Given the description of an element on the screen output the (x, y) to click on. 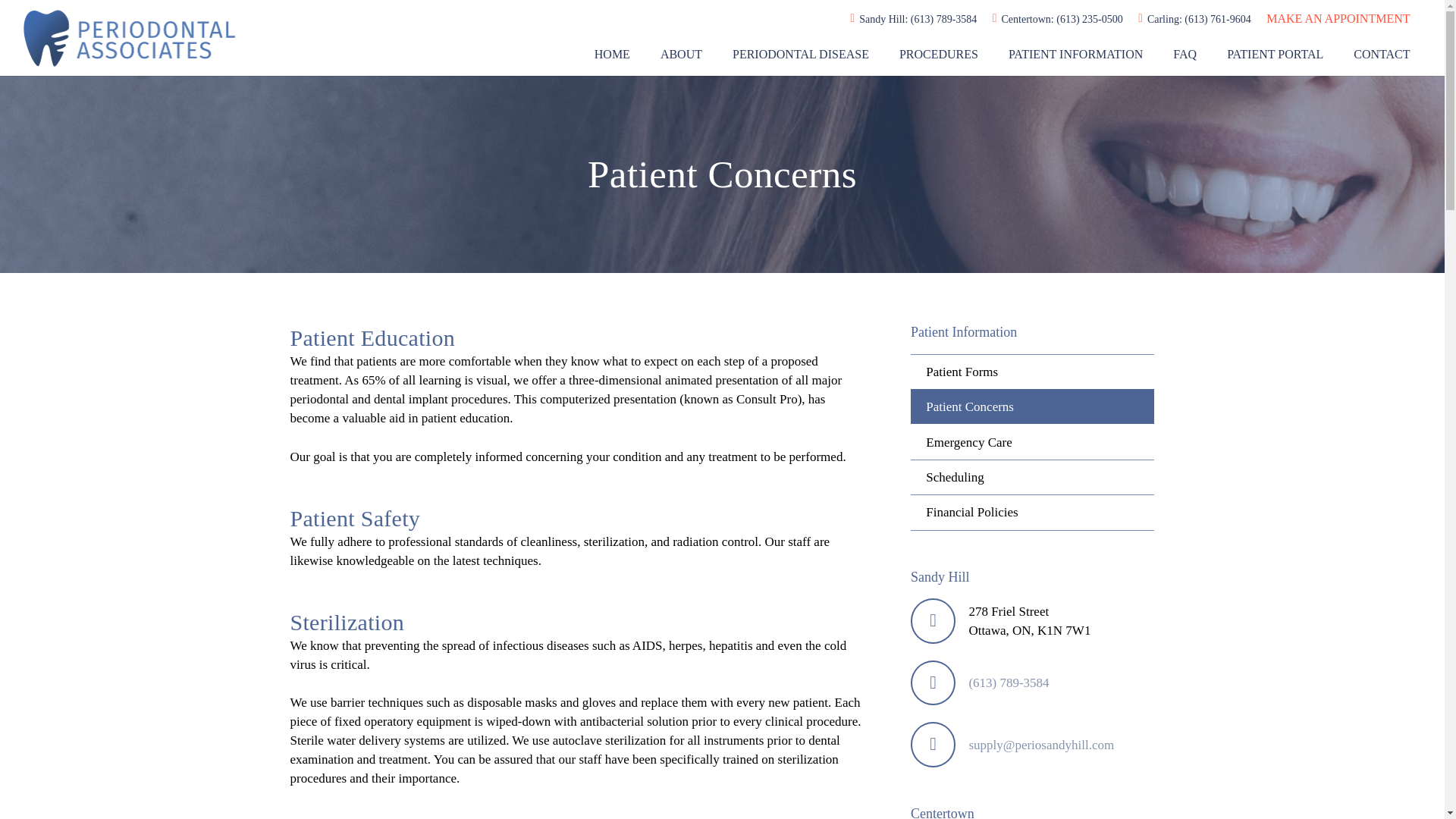
FAQ (1184, 54)
HOME (612, 54)
PERIODONTAL DISEASE (800, 54)
PATIENT PORTAL (1274, 54)
CONTACT (1381, 54)
MAKE AN APPOINTMENT (1337, 18)
PROCEDURES (937, 54)
ABOUT (681, 54)
PATIENT INFORMATION (1074, 54)
